Given the description of an element on the screen output the (x, y) to click on. 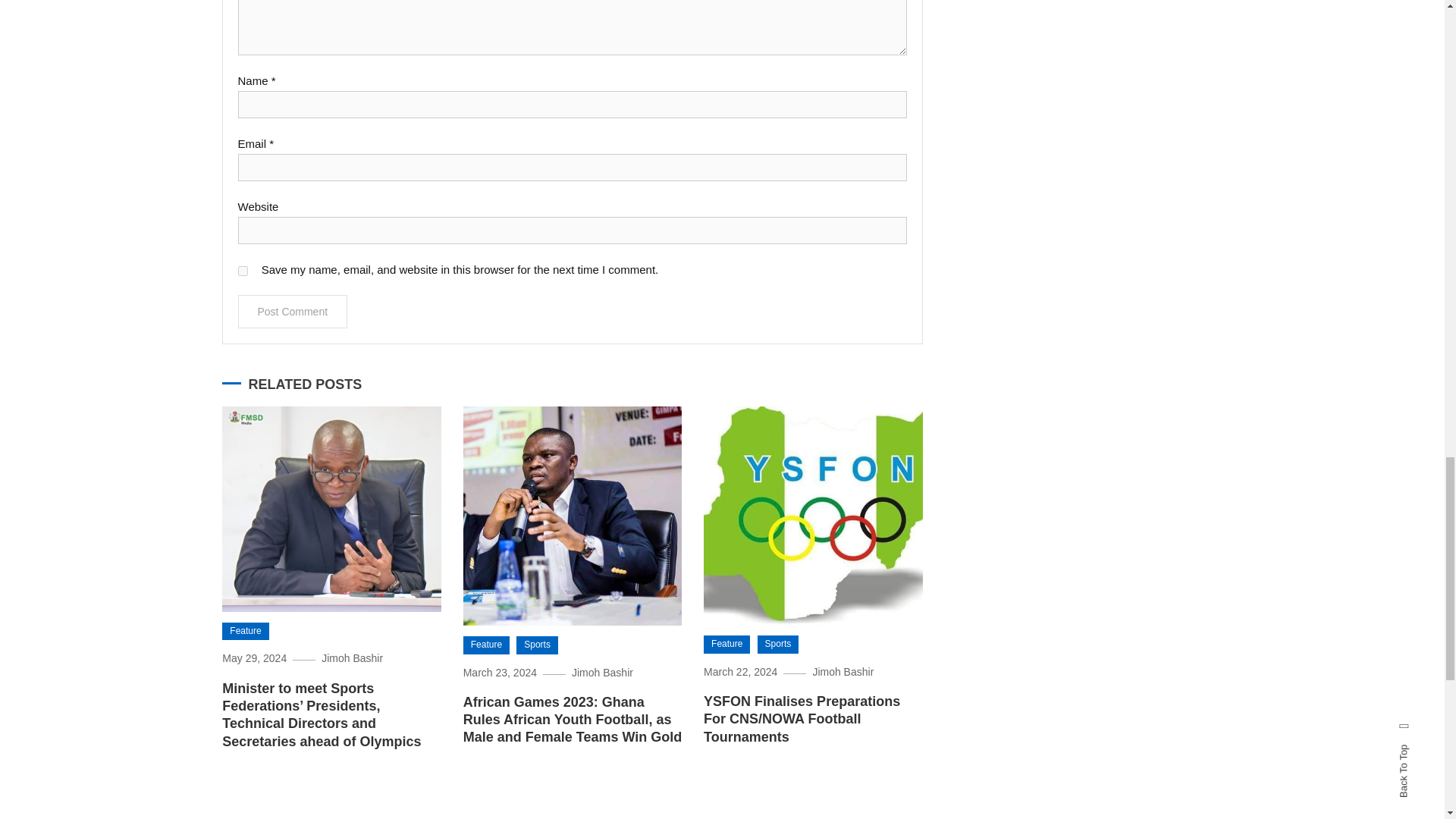
Post Comment (292, 311)
yes (242, 271)
